Given the description of an element on the screen output the (x, y) to click on. 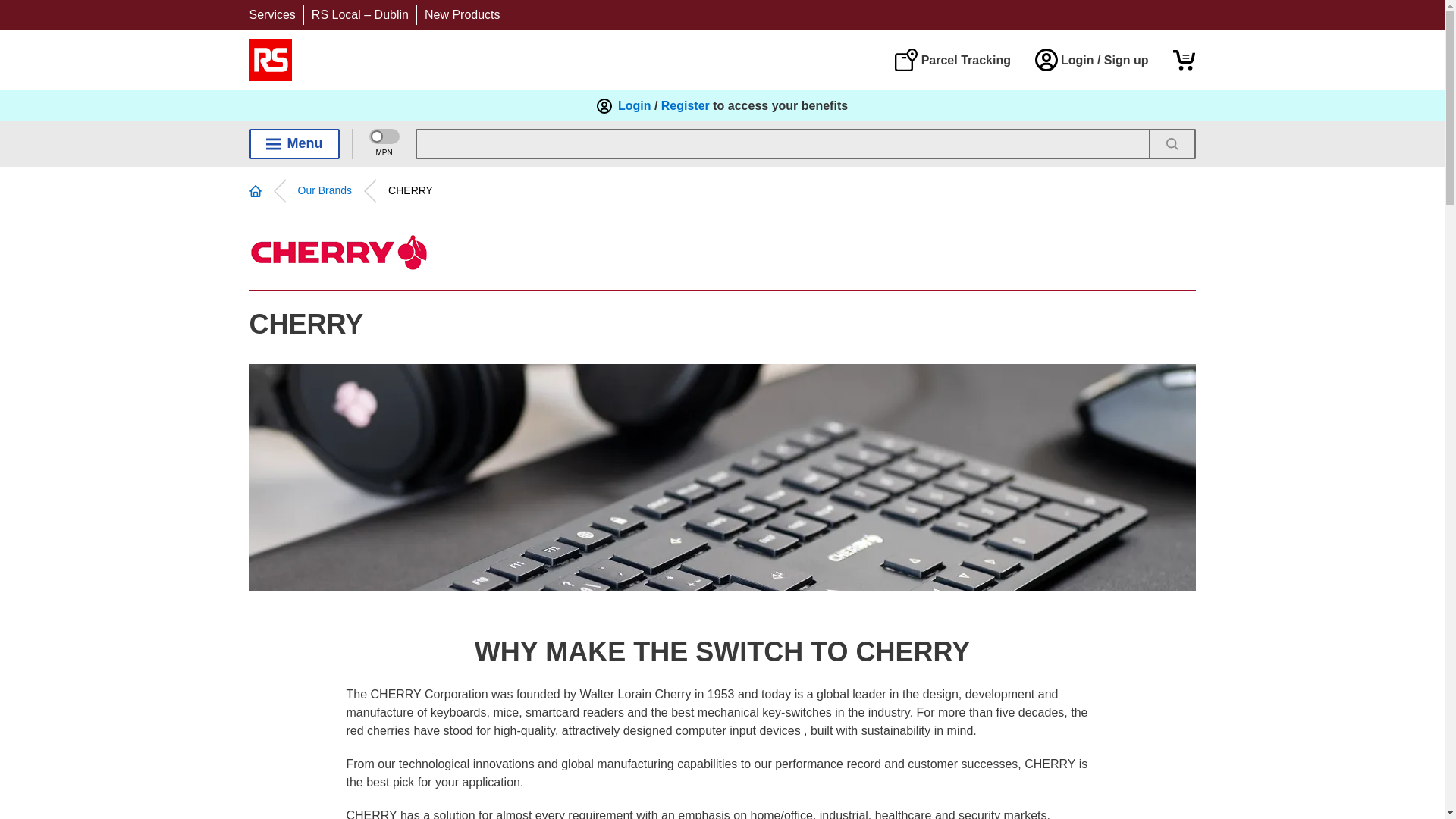
Register (685, 105)
Parcel Tracking (951, 59)
Menu (293, 143)
New Products (462, 14)
Services (271, 14)
Login (633, 105)
